Given the description of an element on the screen output the (x, y) to click on. 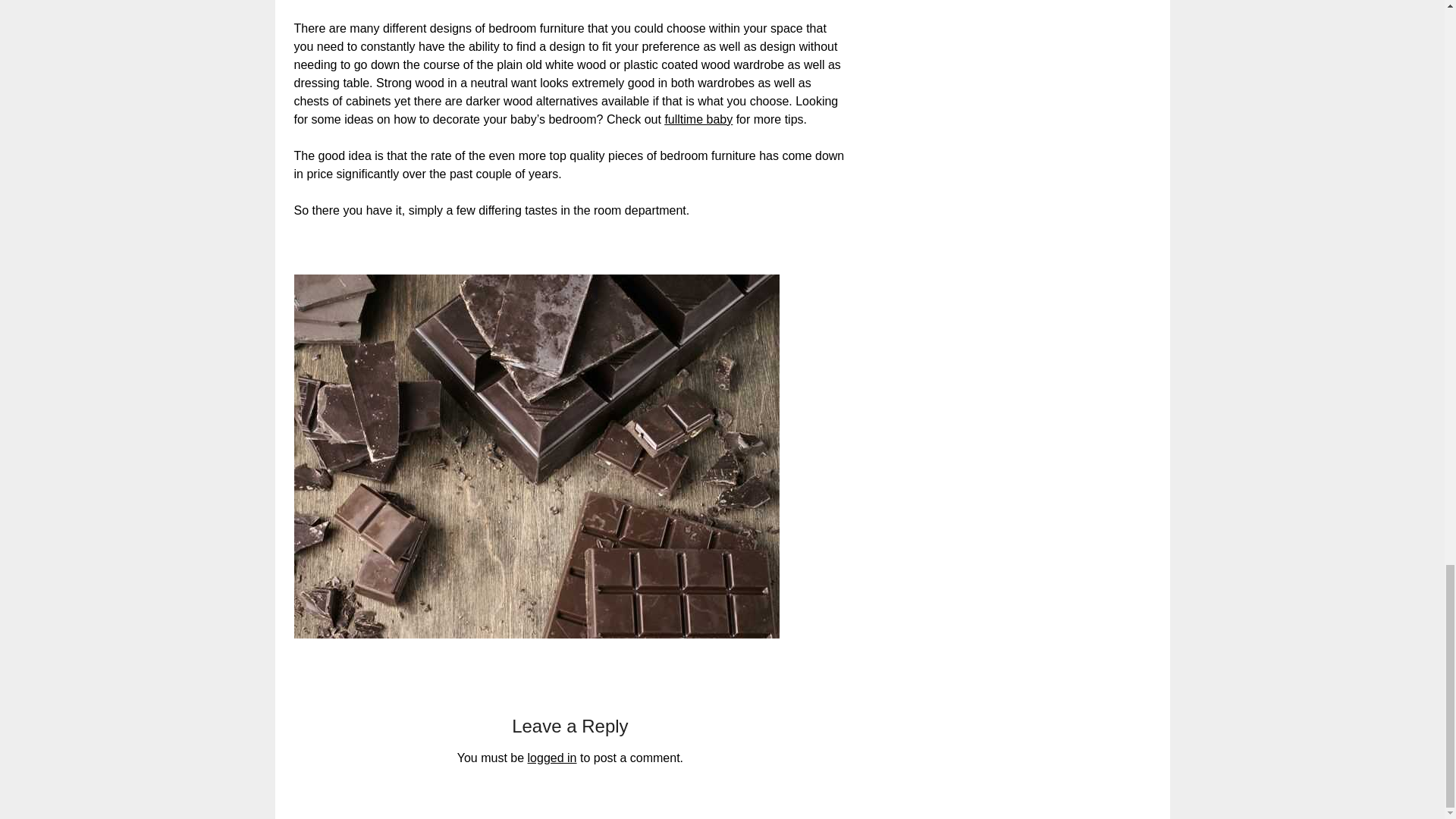
fulltime baby (697, 119)
logged in (551, 757)
